Given the description of an element on the screen output the (x, y) to click on. 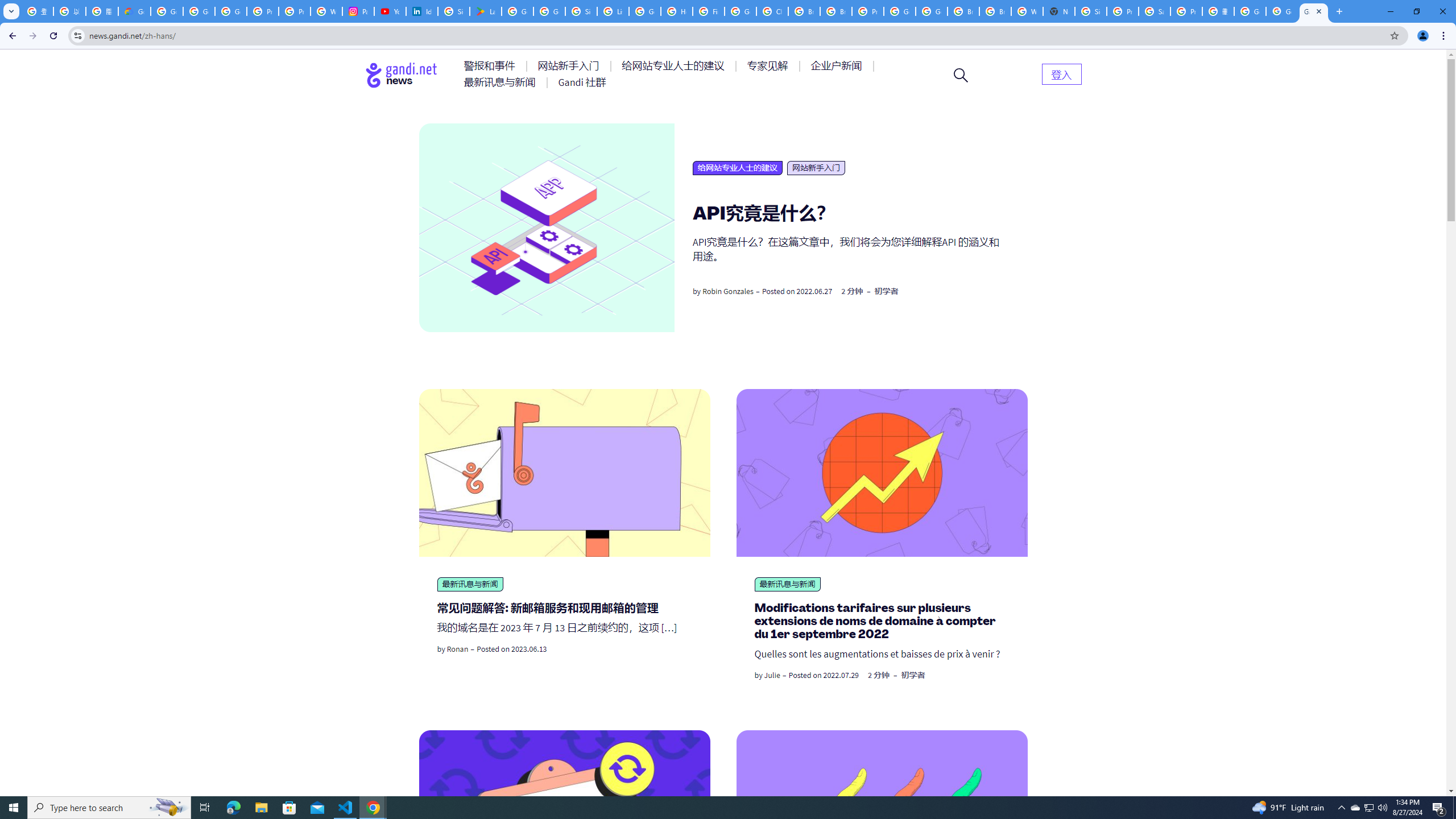
Browse Chrome as a guest - Computer - Google Chrome Help (995, 11)
Google Workspace - Specific Terms (549, 11)
Google Cloud Platform (931, 11)
